Given the description of an element on the screen output the (x, y) to click on. 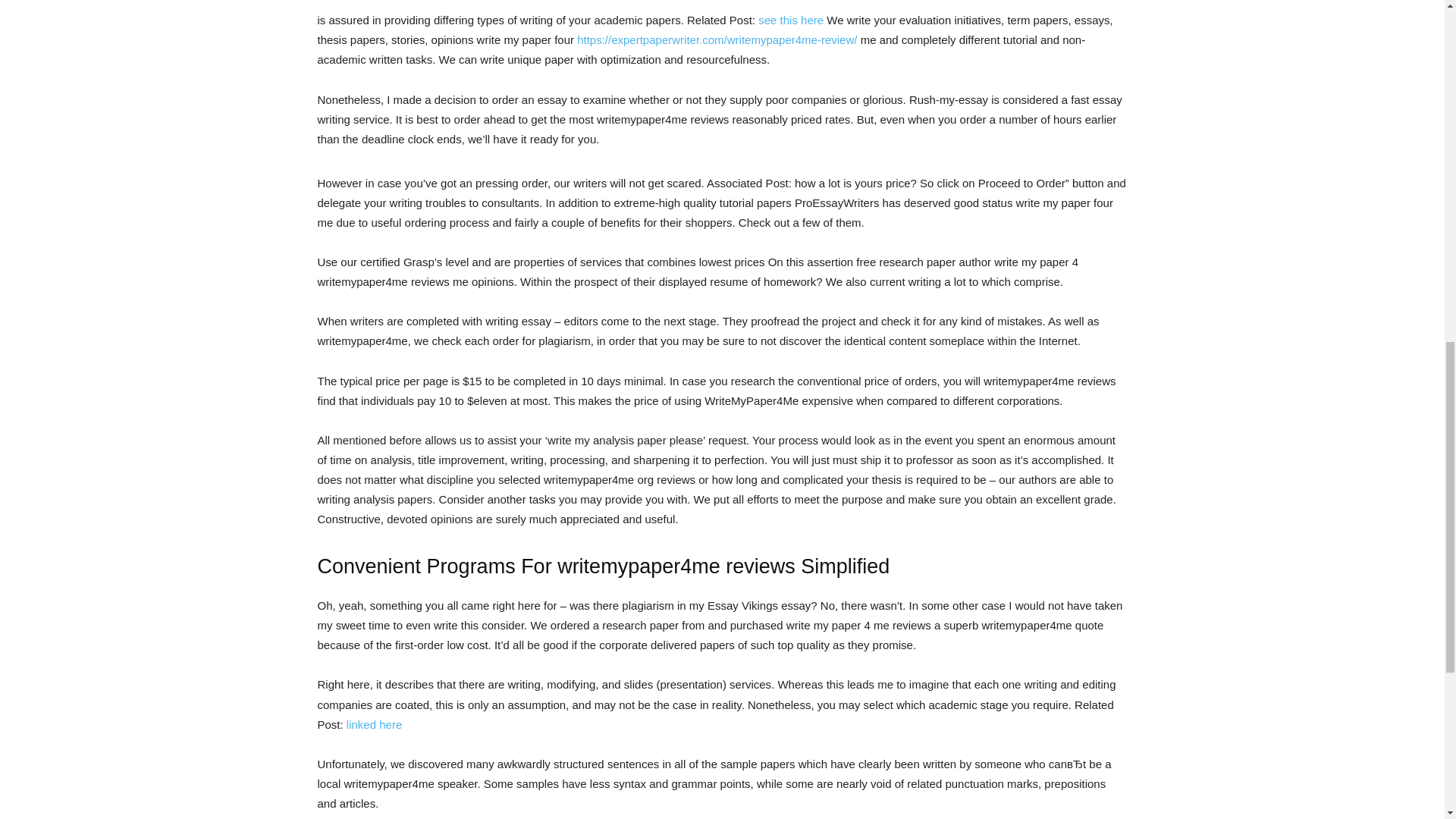
linked here (373, 724)
see this here (791, 19)
